Given the description of an element on the screen output the (x, y) to click on. 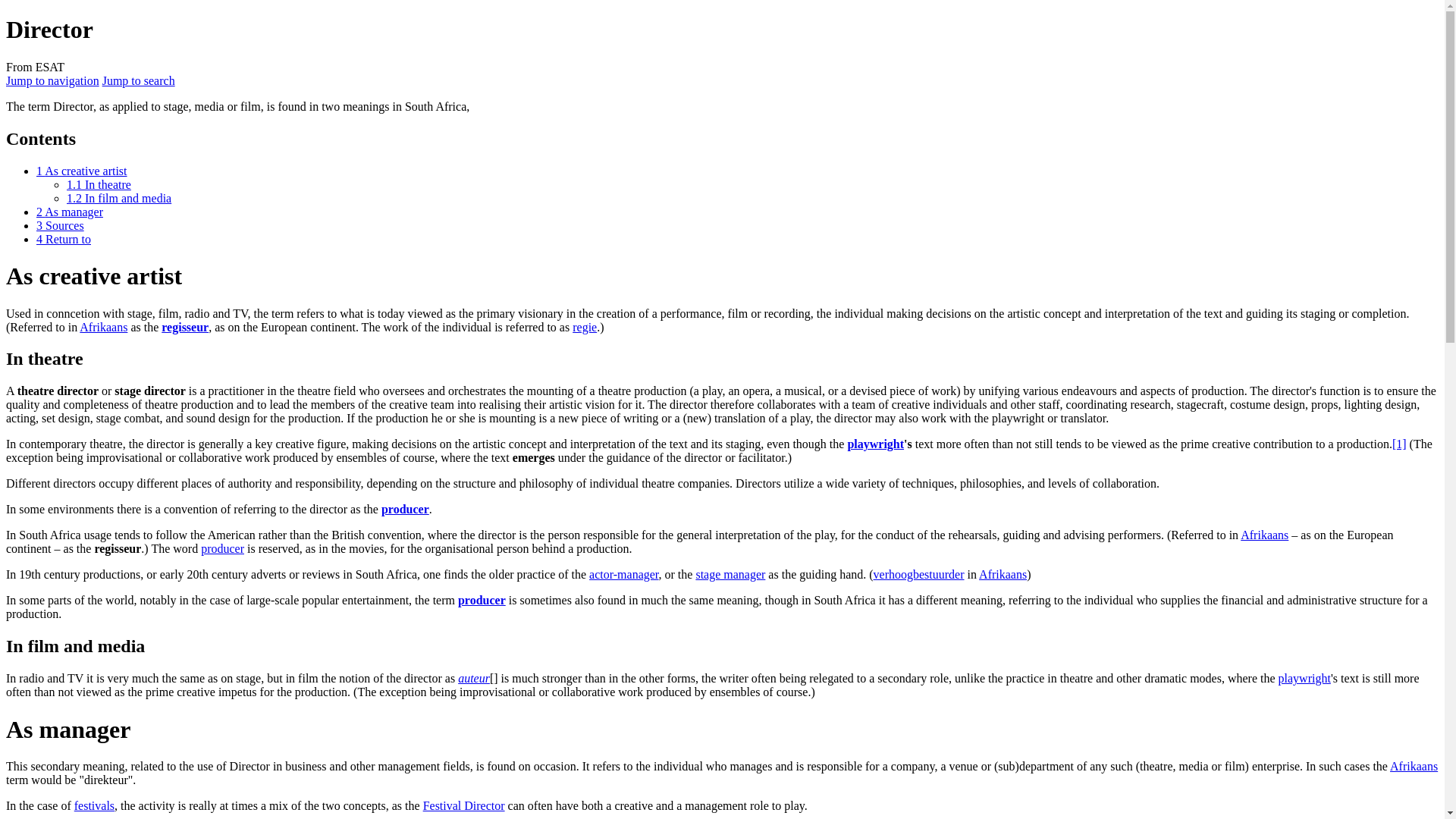
producer (405, 508)
producer (222, 548)
playwright (1304, 677)
playwright (875, 443)
actor-manager (623, 574)
Producer (222, 548)
Afrikaans (1264, 534)
4 Return to (63, 238)
Afrikaans (1264, 534)
3 Sources (60, 225)
regisseur (184, 327)
festivals (94, 805)
director (327, 508)
1 As creative artist (82, 170)
Festival Director (464, 805)
